Given the description of an element on the screen output the (x, y) to click on. 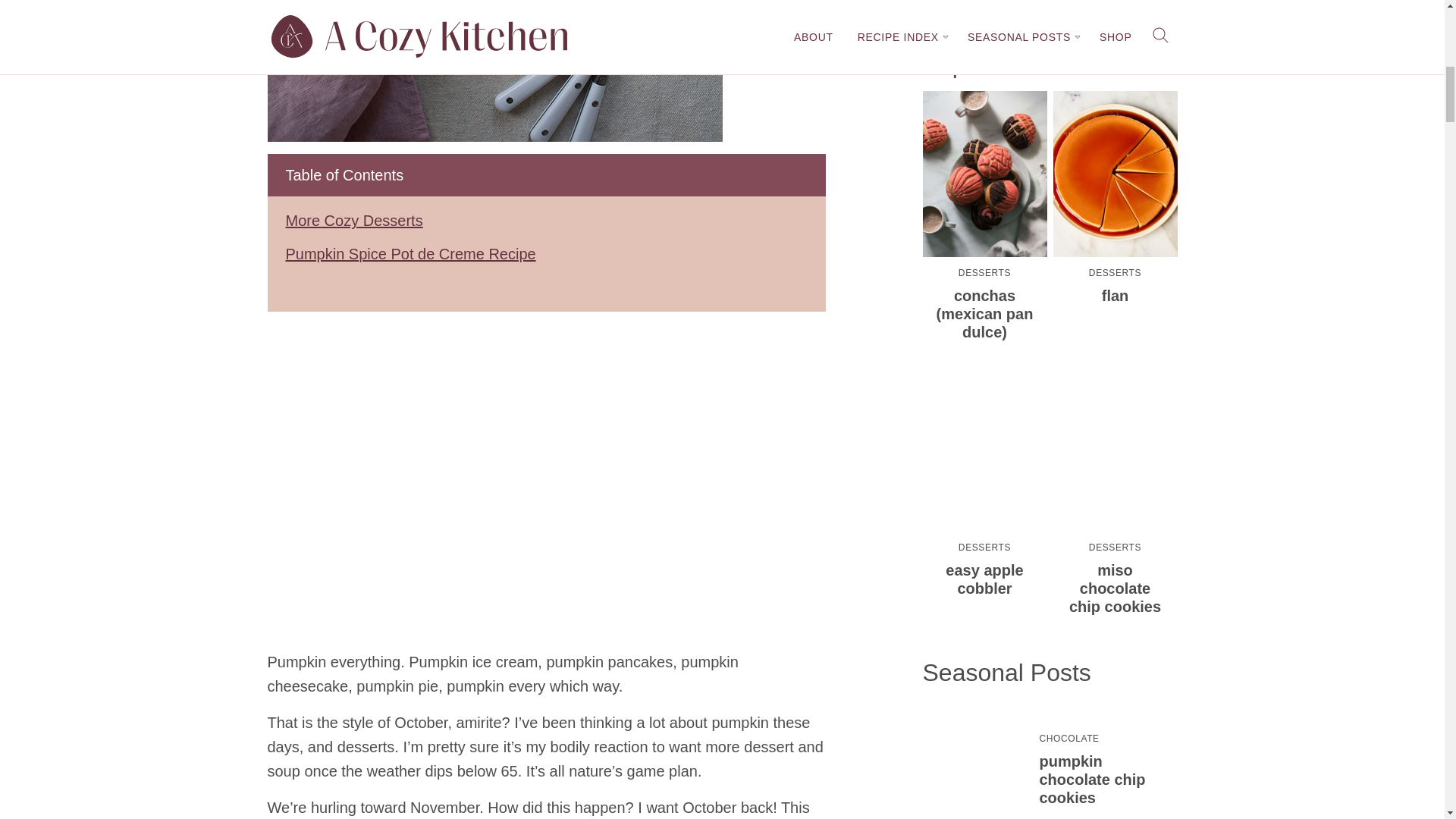
More Cozy Desserts (353, 220)
